Given the description of an element on the screen output the (x, y) to click on. 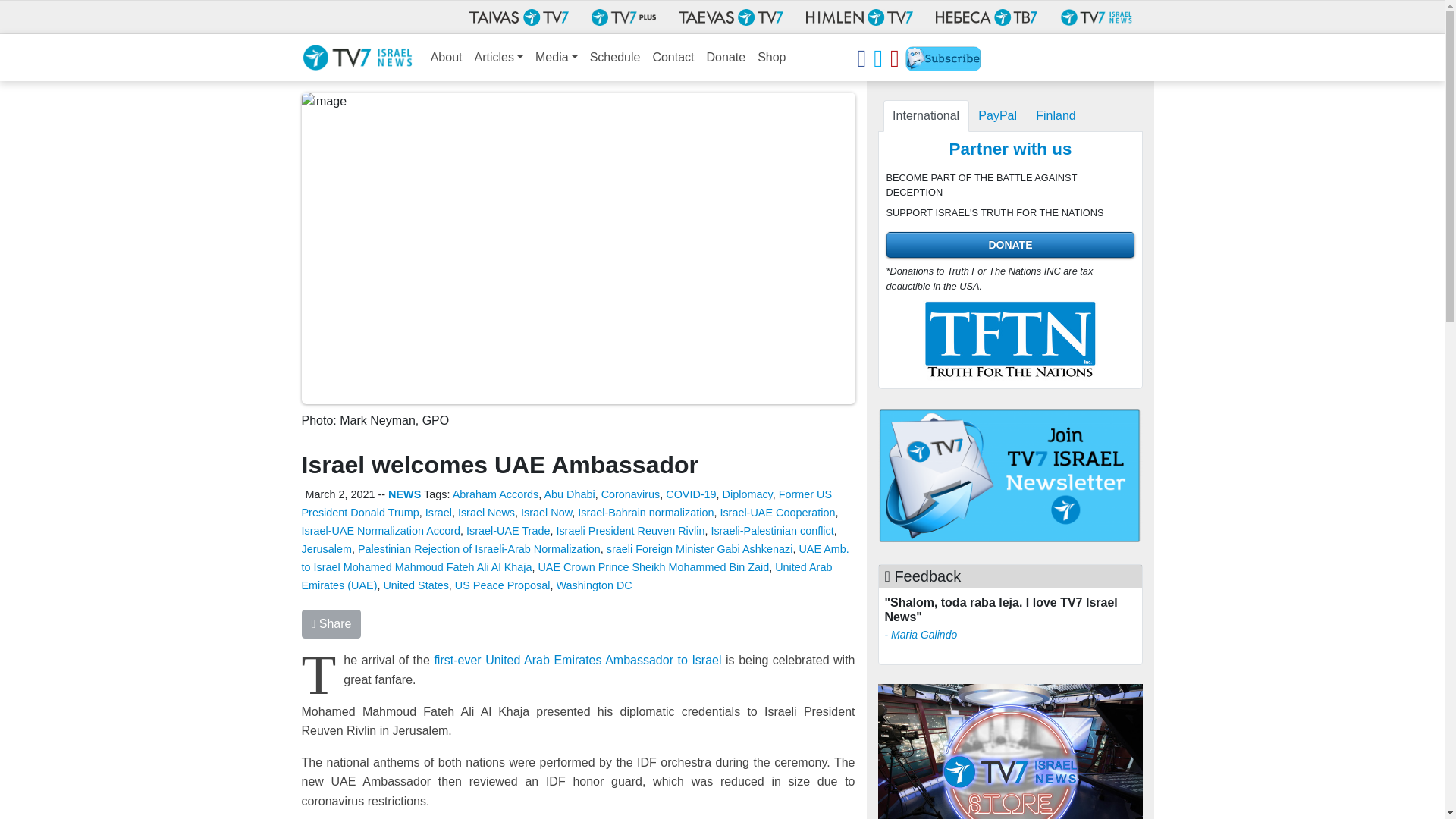
Donate (726, 57)
Media (556, 57)
COVID-19 (690, 494)
Israeli President Reuven Rivlin (630, 530)
Israel-UAE Cooperation (776, 512)
Israeli-Palestinian conflict (771, 530)
Coronavirus (631, 494)
Newsletter (943, 60)
Israel Now (546, 512)
Israel (438, 512)
Former US President Donald Trump (566, 503)
Abraham Accords (495, 494)
Israel-UAE Normalization Accord (381, 530)
NEWS (404, 494)
Diplomacy (747, 494)
